Given the description of an element on the screen output the (x, y) to click on. 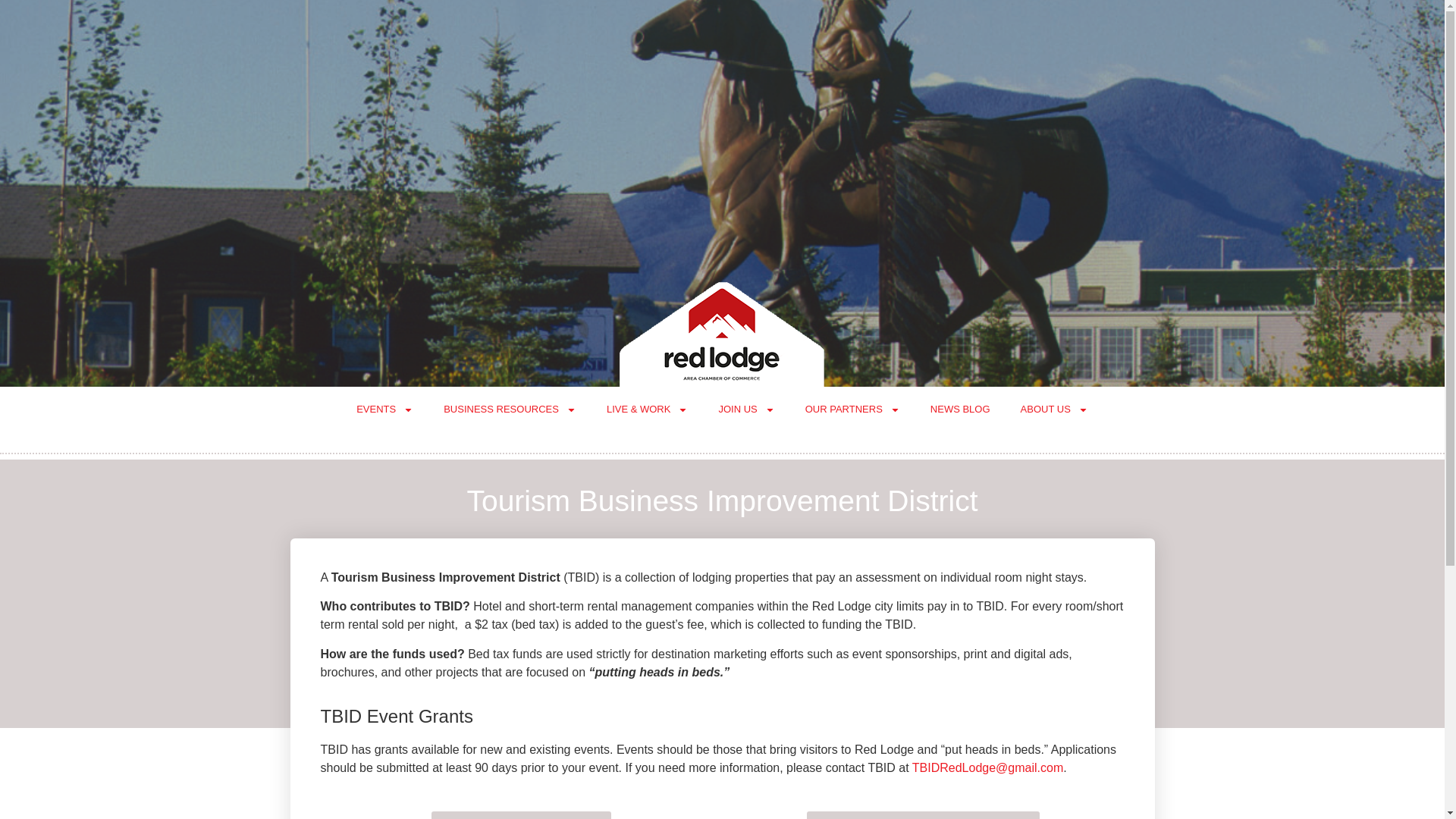
EVENTS (384, 409)
OUR PARTNERS (852, 409)
JOIN US (746, 409)
ABOUT US (1054, 409)
NEWS BLOG (960, 409)
BUSINESS RESOURCES (509, 409)
